Given the description of an element on the screen output the (x, y) to click on. 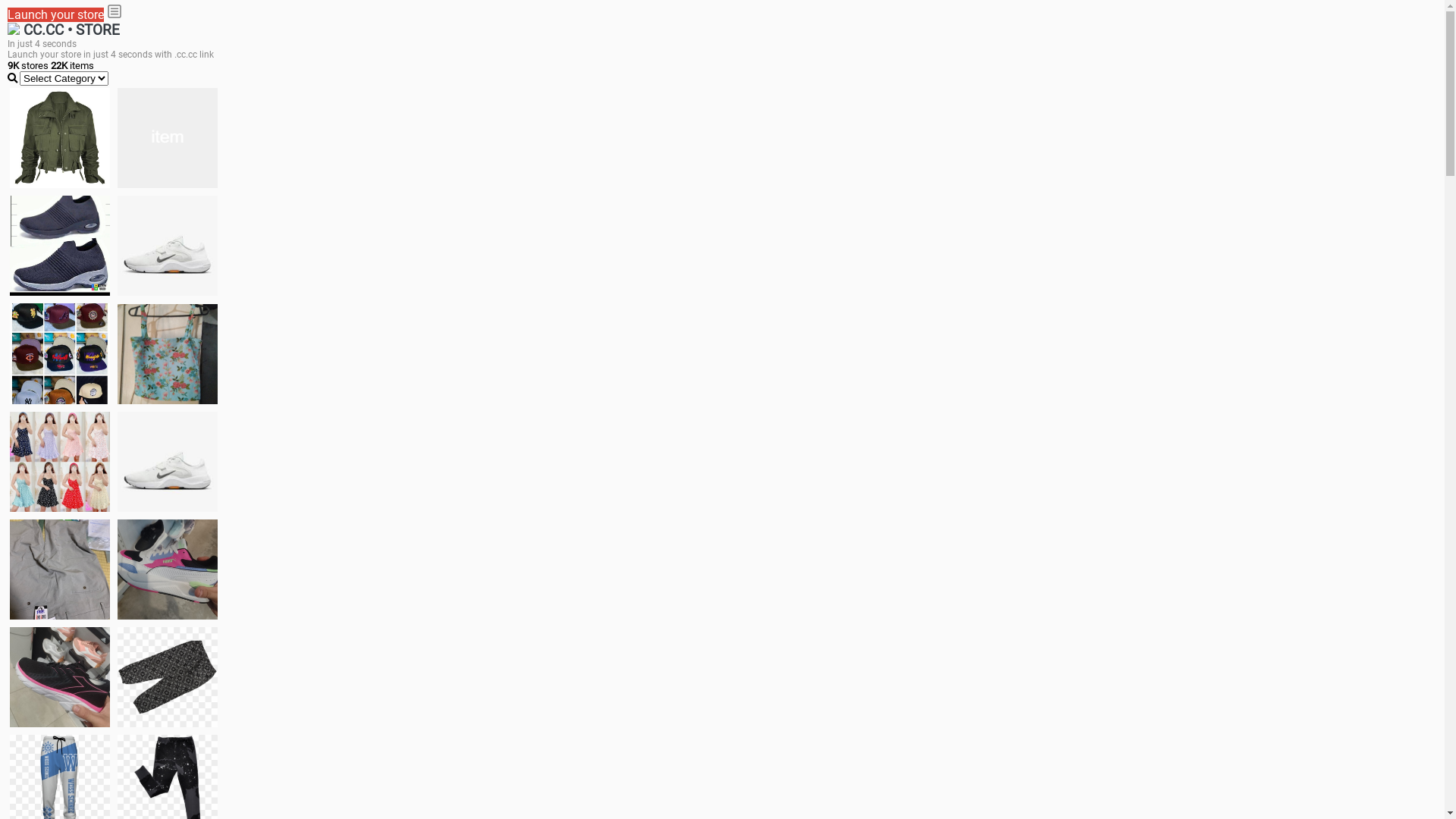
jacket Element type: hover (59, 137)
Launch your store Element type: text (55, 14)
white shoes Element type: hover (167, 137)
Things we need Element type: hover (59, 353)
Ukay cloth Element type: hover (167, 353)
Zapatillas pumas Element type: hover (167, 568)
Shoes for boys Element type: hover (167, 245)
Zapatillas Element type: hover (59, 677)
Short pant Element type: hover (167, 676)
shoes for boys Element type: hover (59, 245)
Dress/square nect top Element type: hover (59, 461)
Shoes Element type: hover (167, 461)
